Given the description of an element on the screen output the (x, y) to click on. 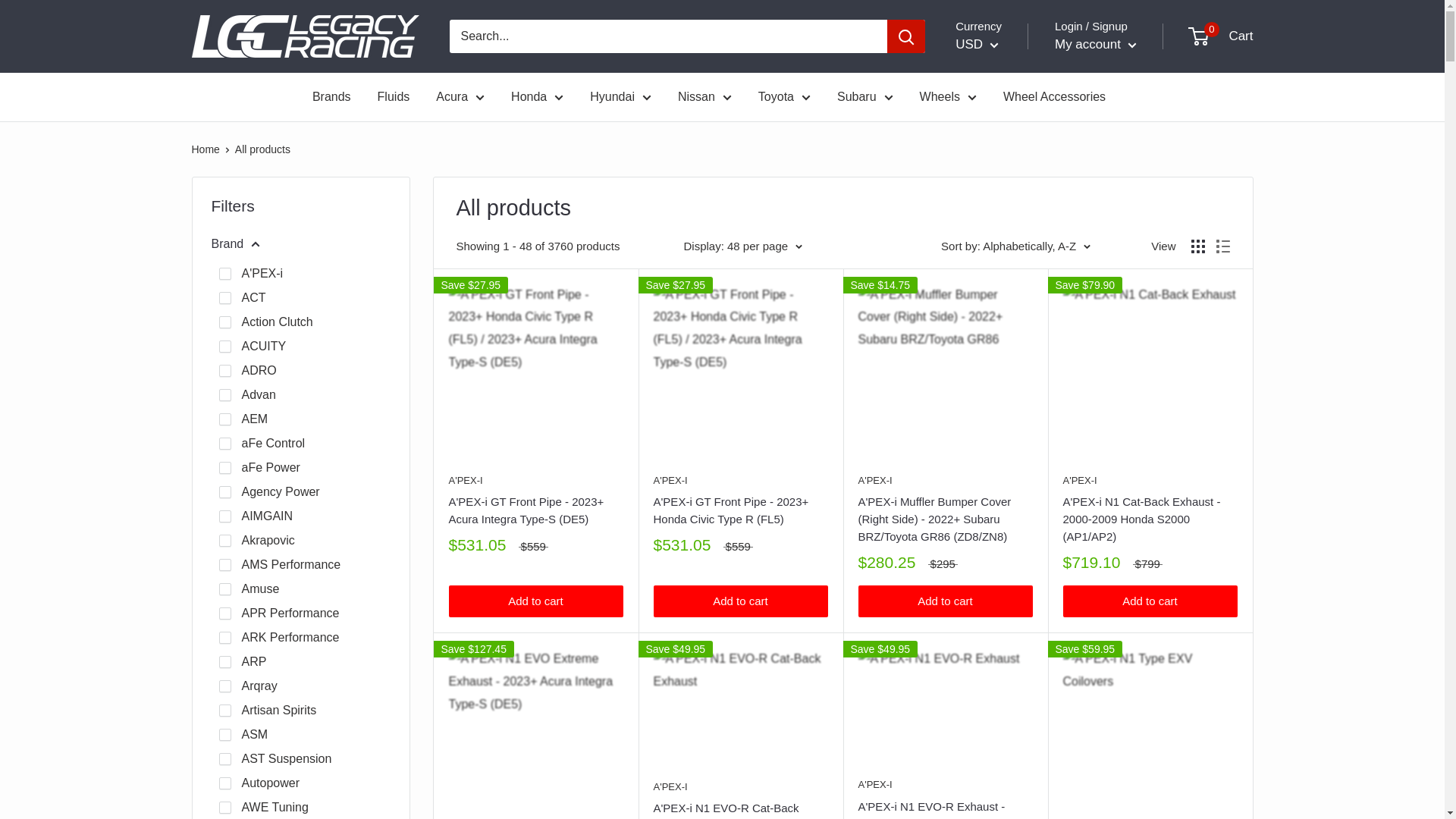
on (224, 346)
on (224, 370)
on (224, 443)
on (224, 395)
on (224, 273)
on (224, 322)
on (224, 419)
on (224, 297)
